Given the description of an element on the screen output the (x, y) to click on. 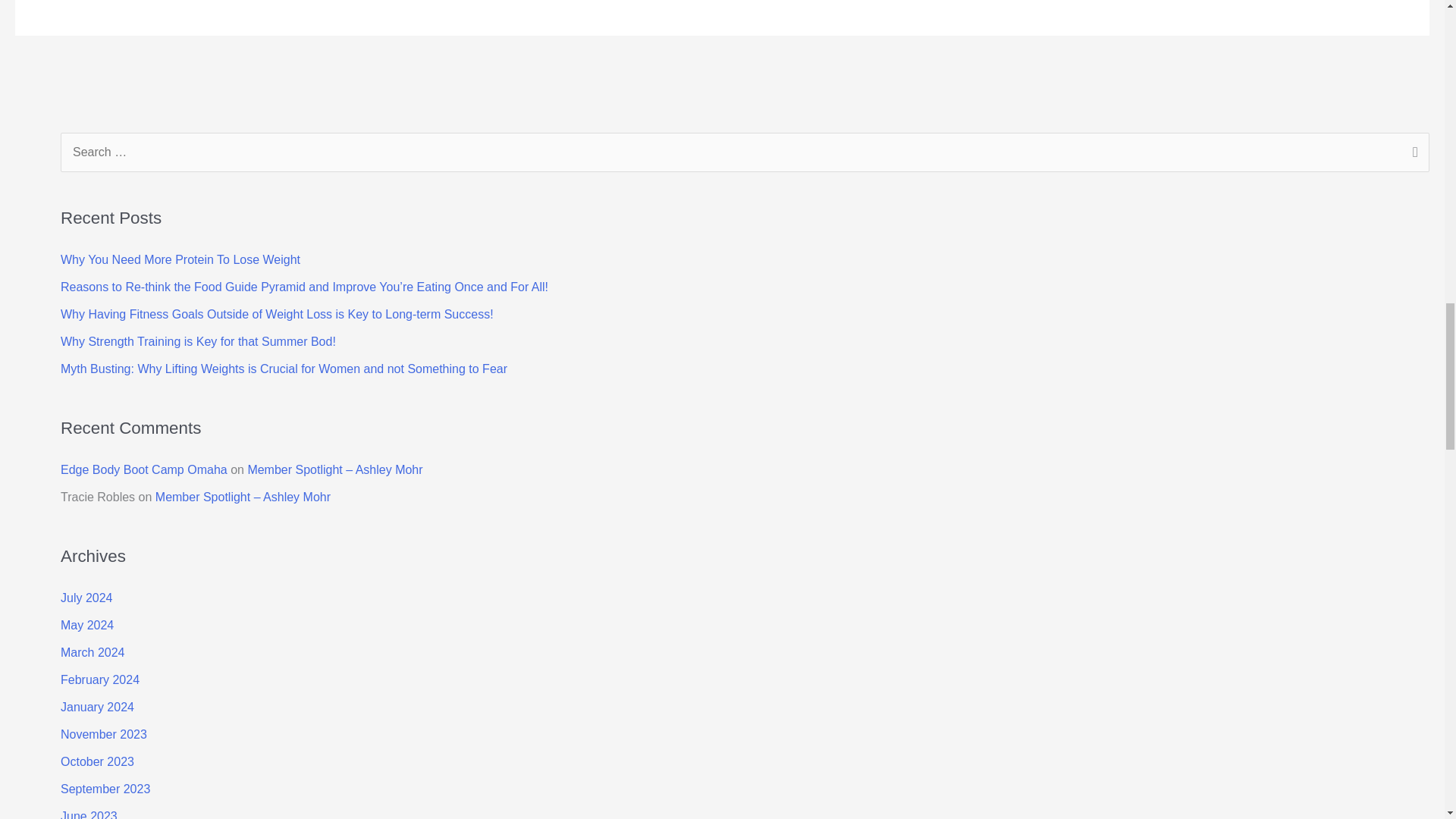
Why You Need More Protein To Lose Weight (180, 259)
July 2024 (87, 597)
October 2023 (97, 761)
January 2024 (97, 707)
March 2024 (93, 652)
Why Strength Training is Key for that Summer Bod! (198, 341)
Edge Body Boot Camp Omaha (144, 469)
September 2023 (105, 788)
November 2023 (104, 734)
June 2023 (89, 814)
May 2024 (87, 625)
February 2024 (100, 679)
